Given the description of an element on the screen output the (x, y) to click on. 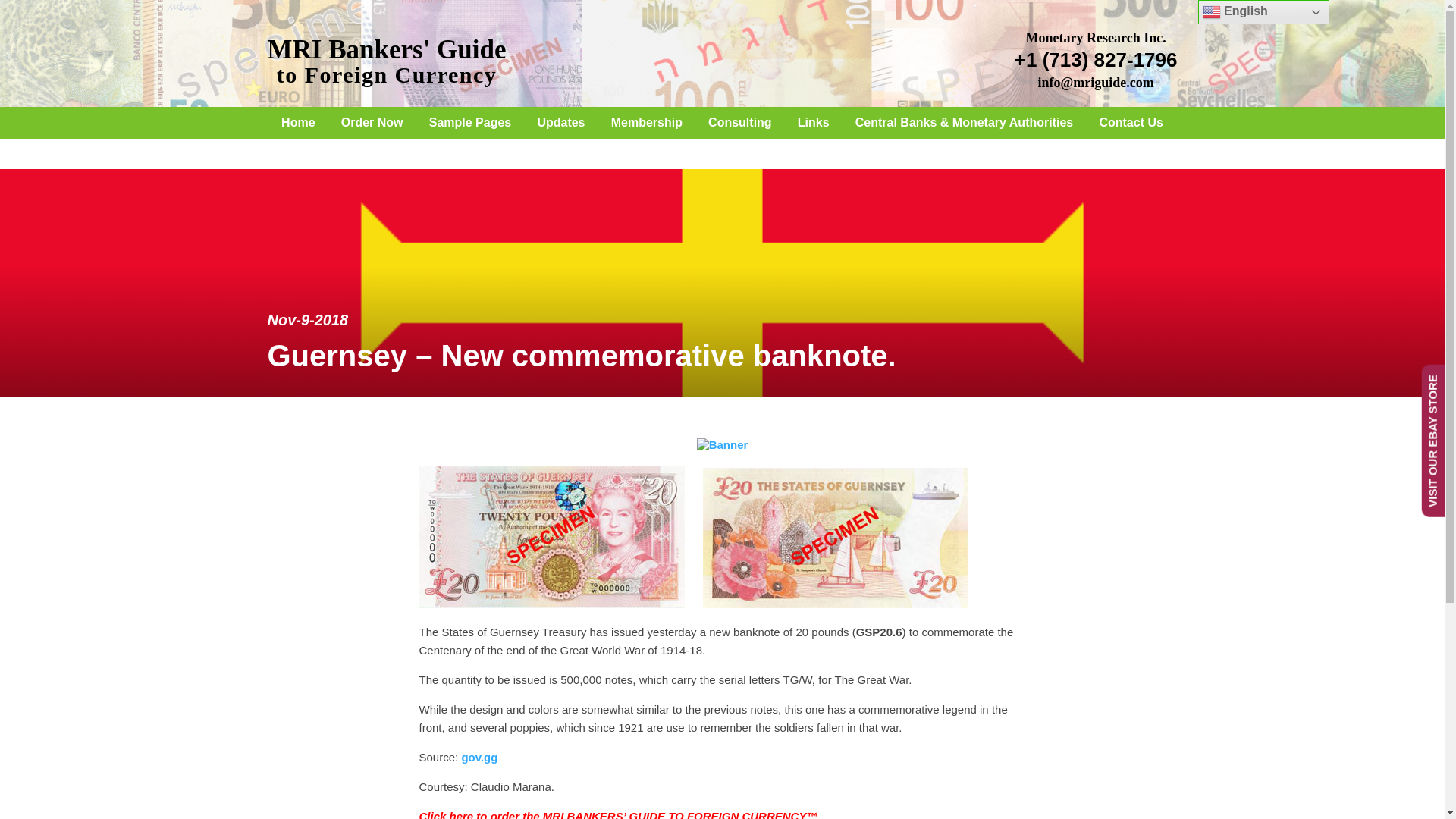
Updates (560, 122)
Home (297, 122)
Banner (722, 444)
Sample Pages (469, 122)
Contact Us (385, 62)
gov.gg (1130, 122)
Order Now (479, 757)
Consulting (372, 122)
Links (740, 122)
Membership (813, 122)
